Given the description of an element on the screen output the (x, y) to click on. 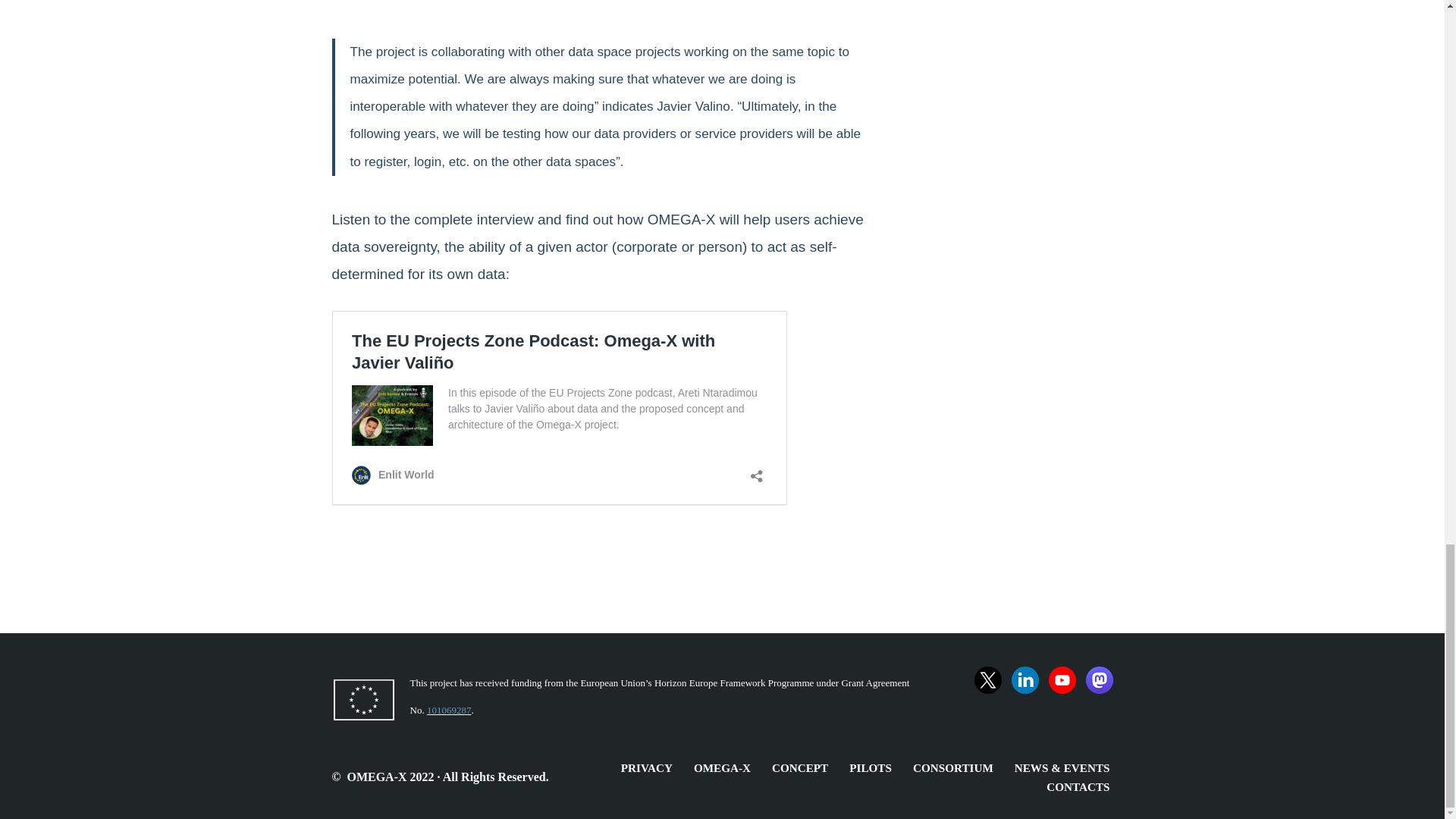
101069287 (448, 709)
